Given the description of an element on the screen output the (x, y) to click on. 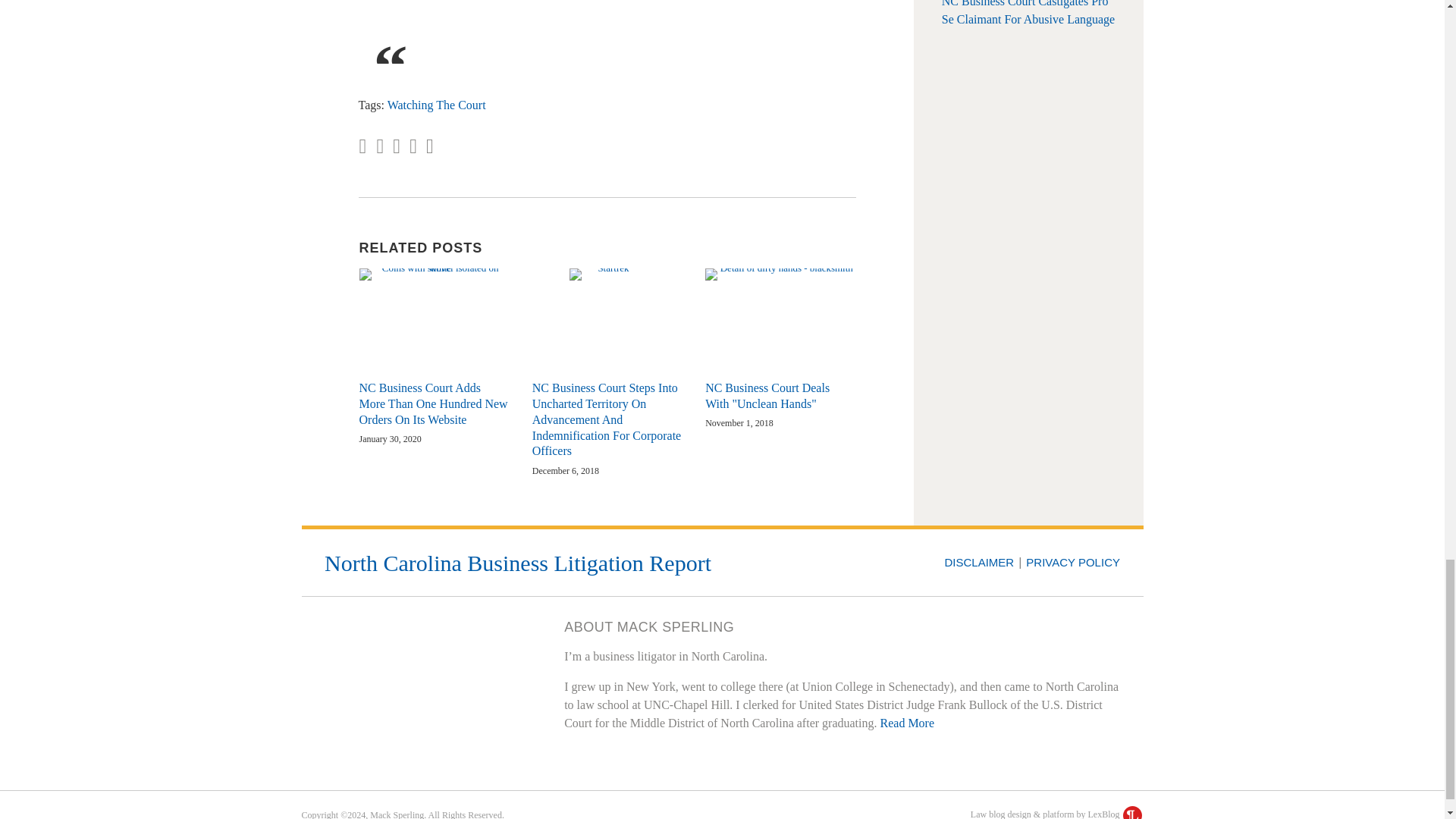
Watching The Court (436, 104)
NC Business Court Deals With "Unclean Hands" (780, 396)
